Given the description of an element on the screen output the (x, y) to click on. 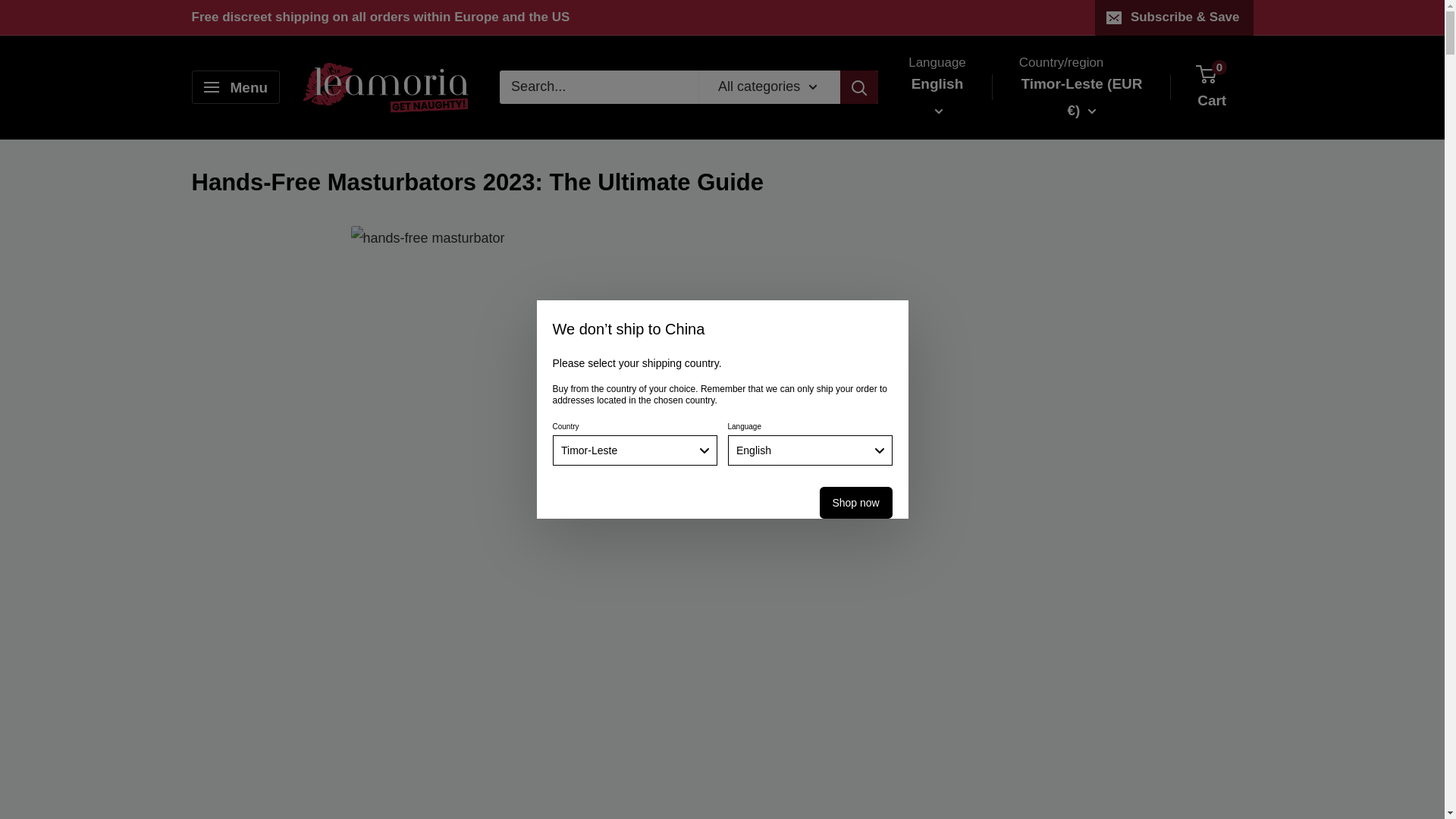
Timor-Leste (633, 450)
Menu (234, 87)
Shop now (855, 502)
English (810, 450)
